Given the description of an element on the screen output the (x, y) to click on. 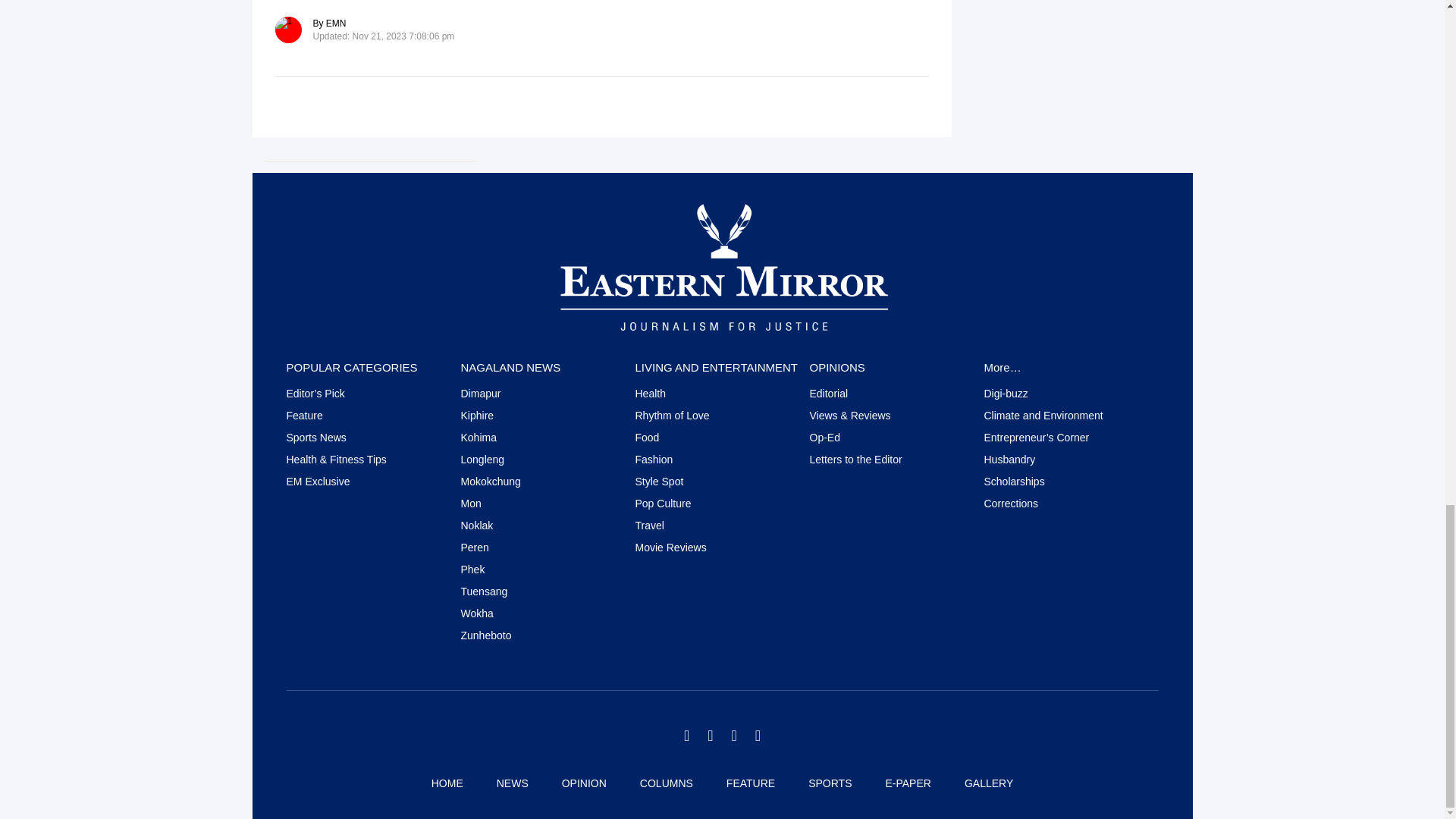
Youtube (757, 735)
Instagram (733, 735)
Facebook (710, 735)
Eastern Mirror (721, 265)
Twitter (686, 735)
